Given the description of an element on the screen output the (x, y) to click on. 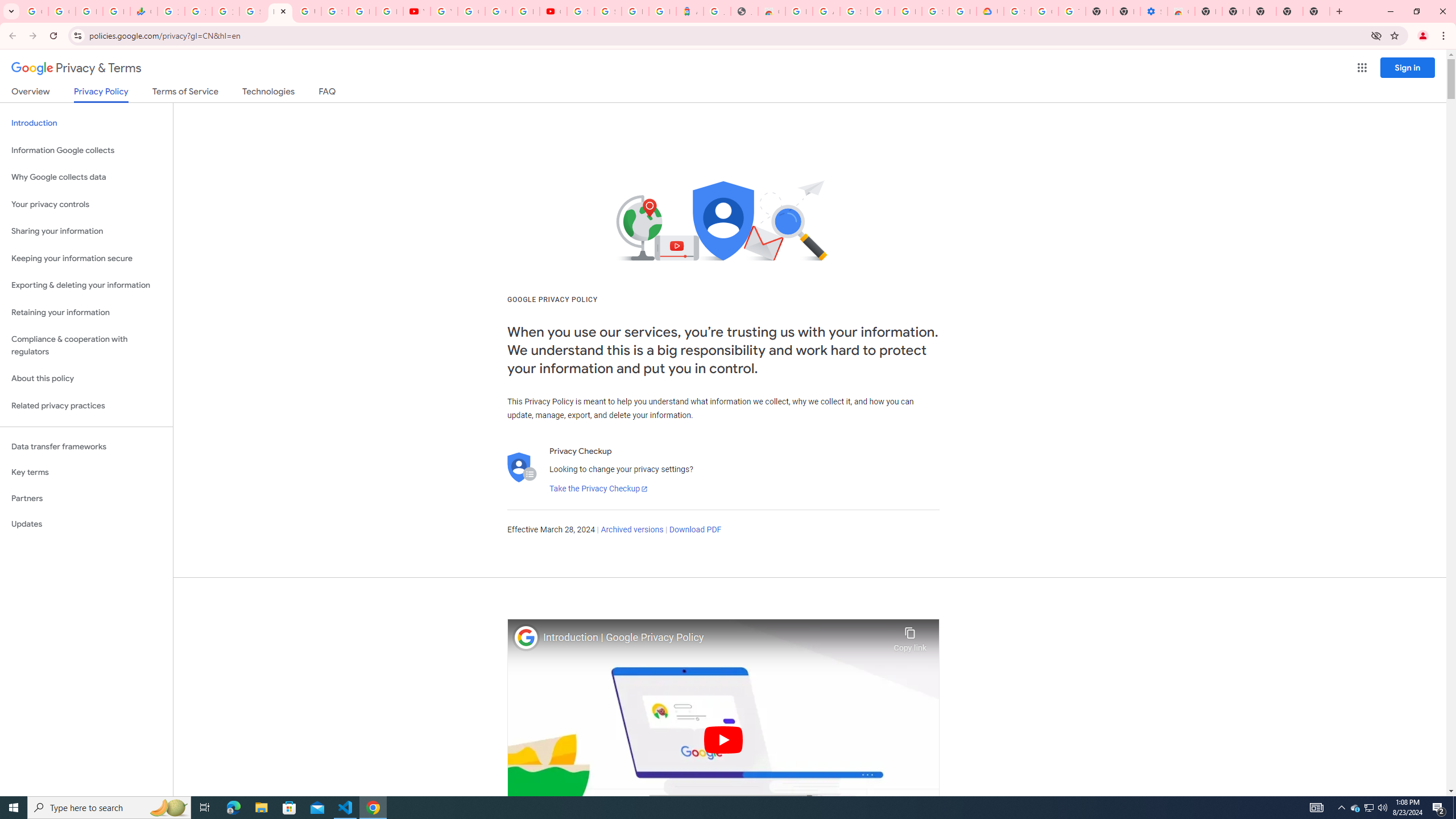
New Tab (1208, 11)
